Given the description of an element on the screen output the (x, y) to click on. 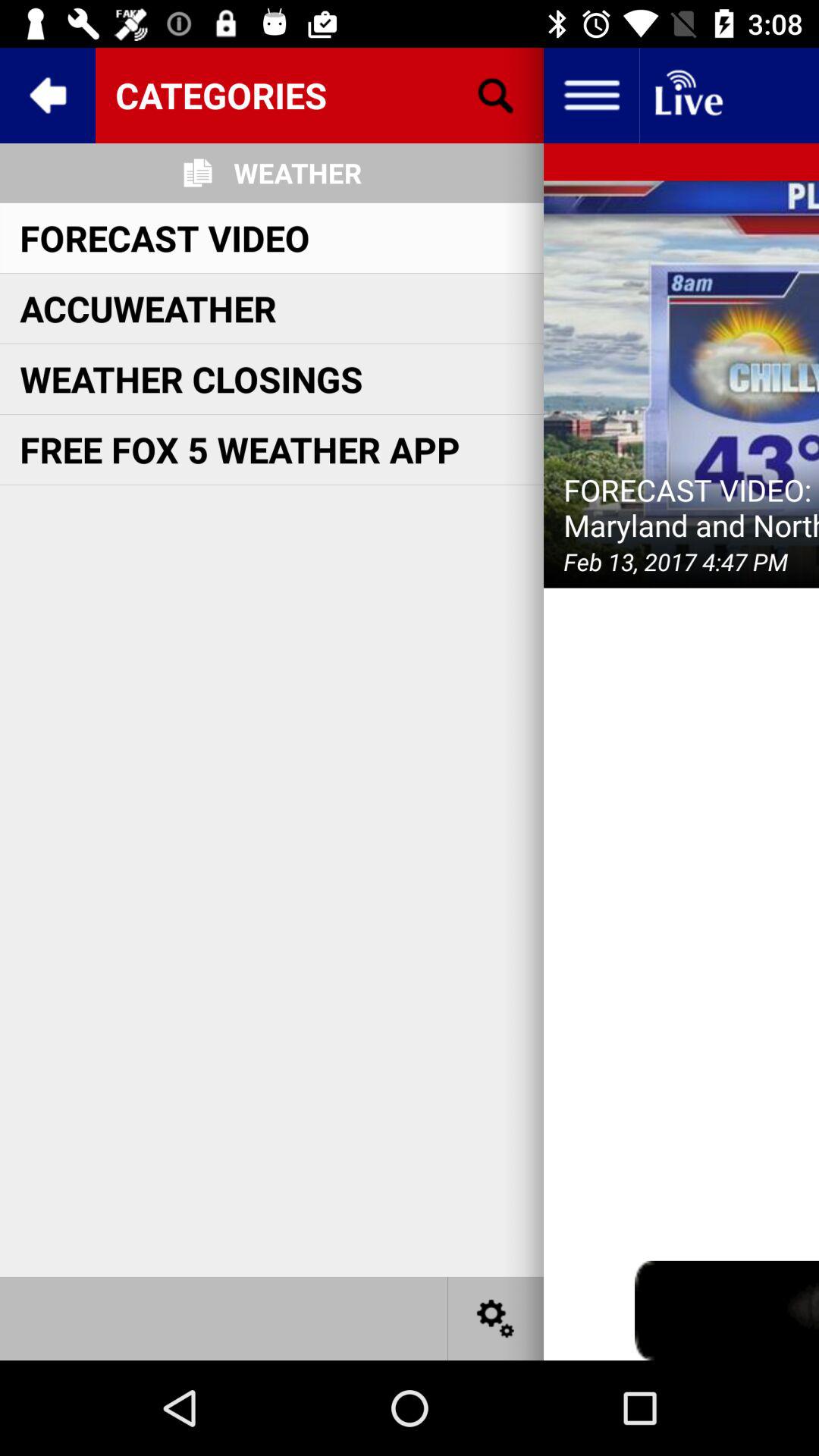
tap the categories item (319, 95)
